Given the description of an element on the screen output the (x, y) to click on. 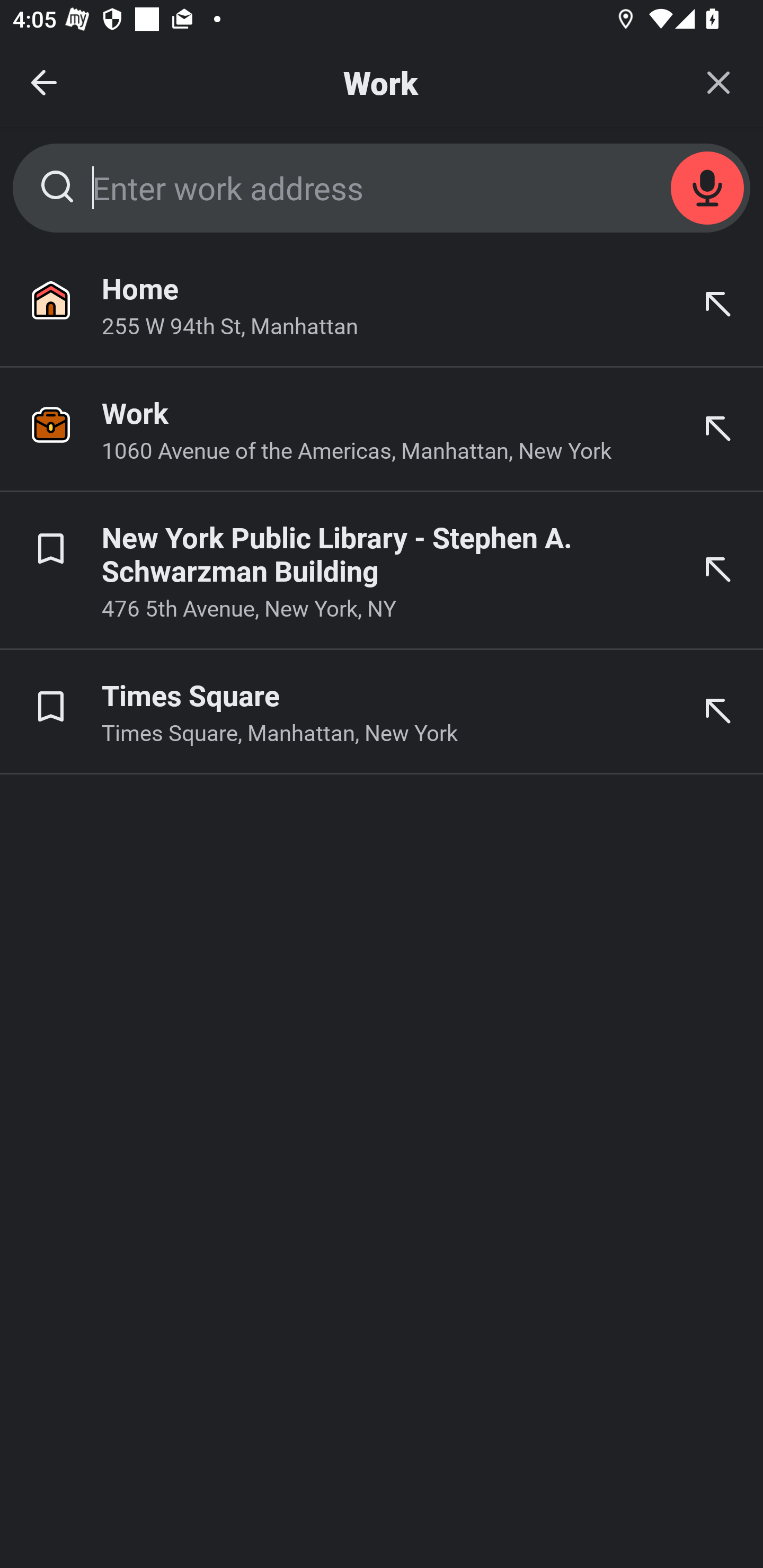
Enter work address (381, 188)
